Given the description of an element on the screen output the (x, y) to click on. 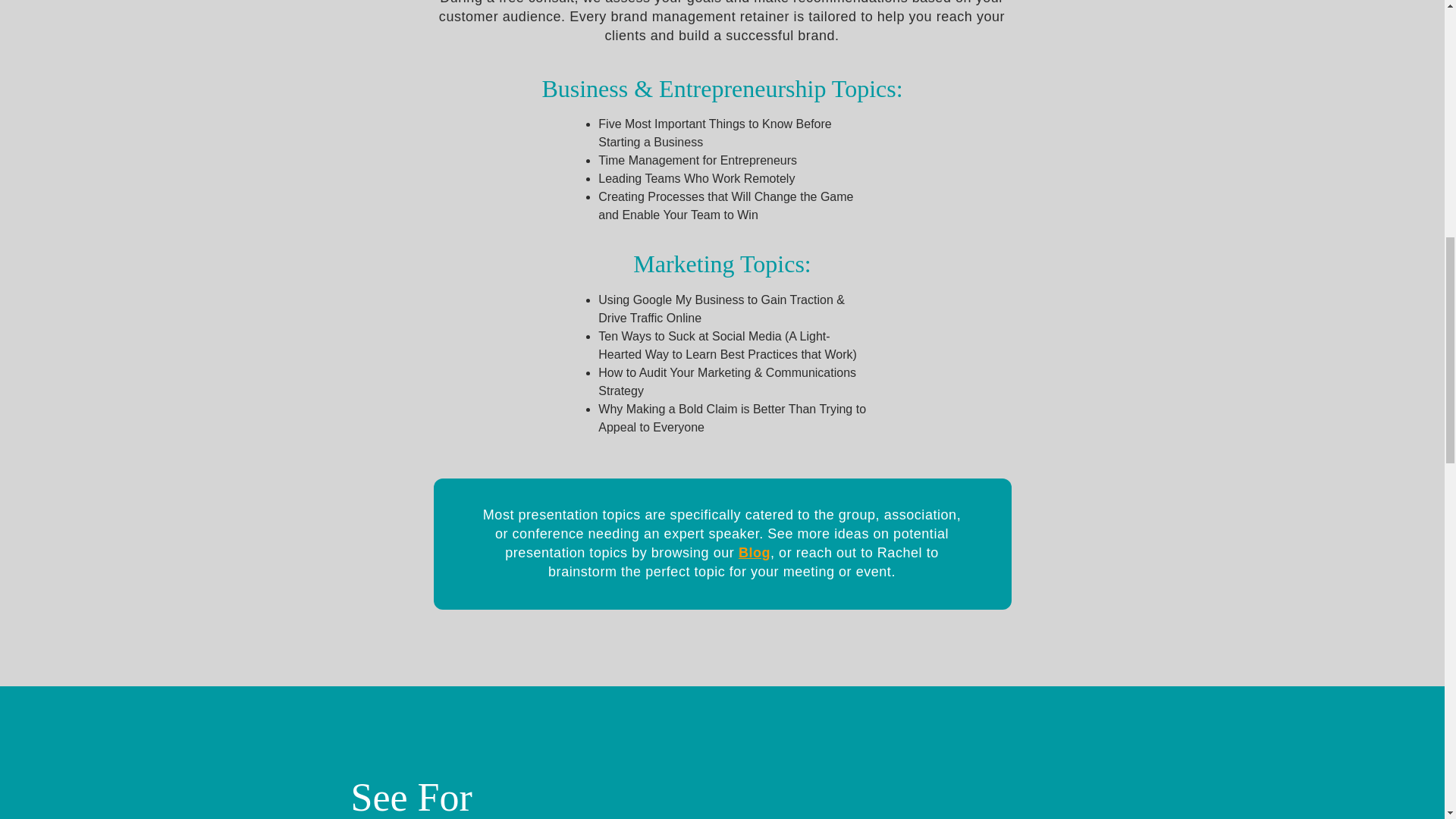
Blog (754, 552)
